Given the description of an element on the screen output the (x, y) to click on. 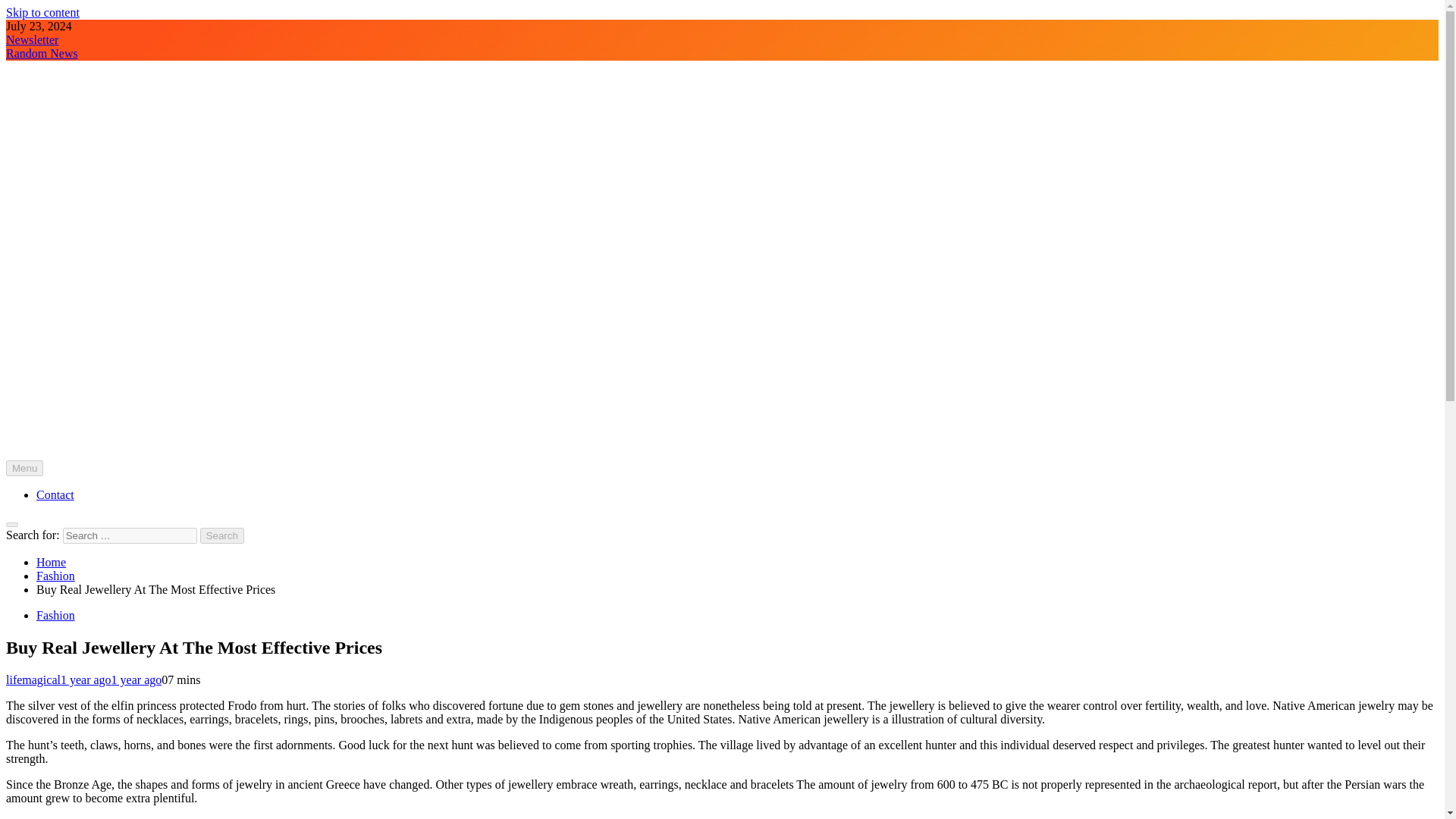
Skip to content (42, 11)
Search (222, 535)
Fashion (55, 615)
1 year ago1 year ago (111, 679)
lifemagical (33, 679)
Random News (41, 52)
Menu (24, 467)
Home (50, 562)
Life Magical (36, 478)
Contact (55, 494)
Fashion (55, 575)
Newsletter (31, 39)
Search (222, 535)
Search (222, 535)
